Given the description of an element on the screen output the (x, y) to click on. 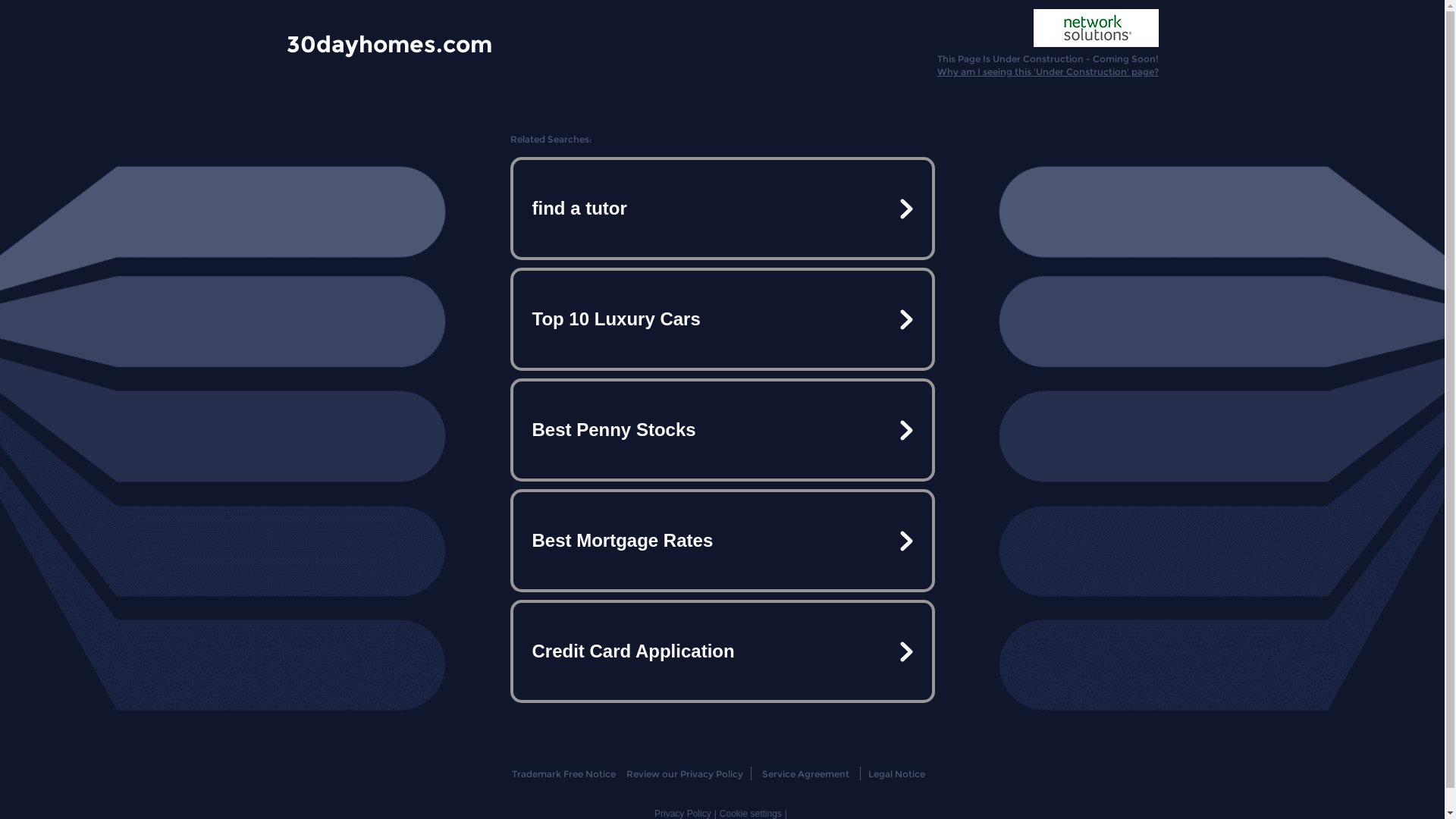
Top 10 Luxury Cars Element type: text (721, 318)
Best Penny Stocks Element type: text (721, 429)
Review our Privacy Policy Element type: text (684, 773)
Legal Notice Element type: text (896, 773)
Service Agreement Element type: text (805, 773)
find a tutor Element type: text (721, 208)
Best Mortgage Rates Element type: text (721, 540)
Credit Card Application Element type: text (721, 650)
Trademark Free Notice Element type: text (563, 773)
30dayhomes.com Element type: text (389, 43)
Why am I seeing this 'Under Construction' page? Element type: text (1047, 71)
